Given the description of an element on the screen output the (x, y) to click on. 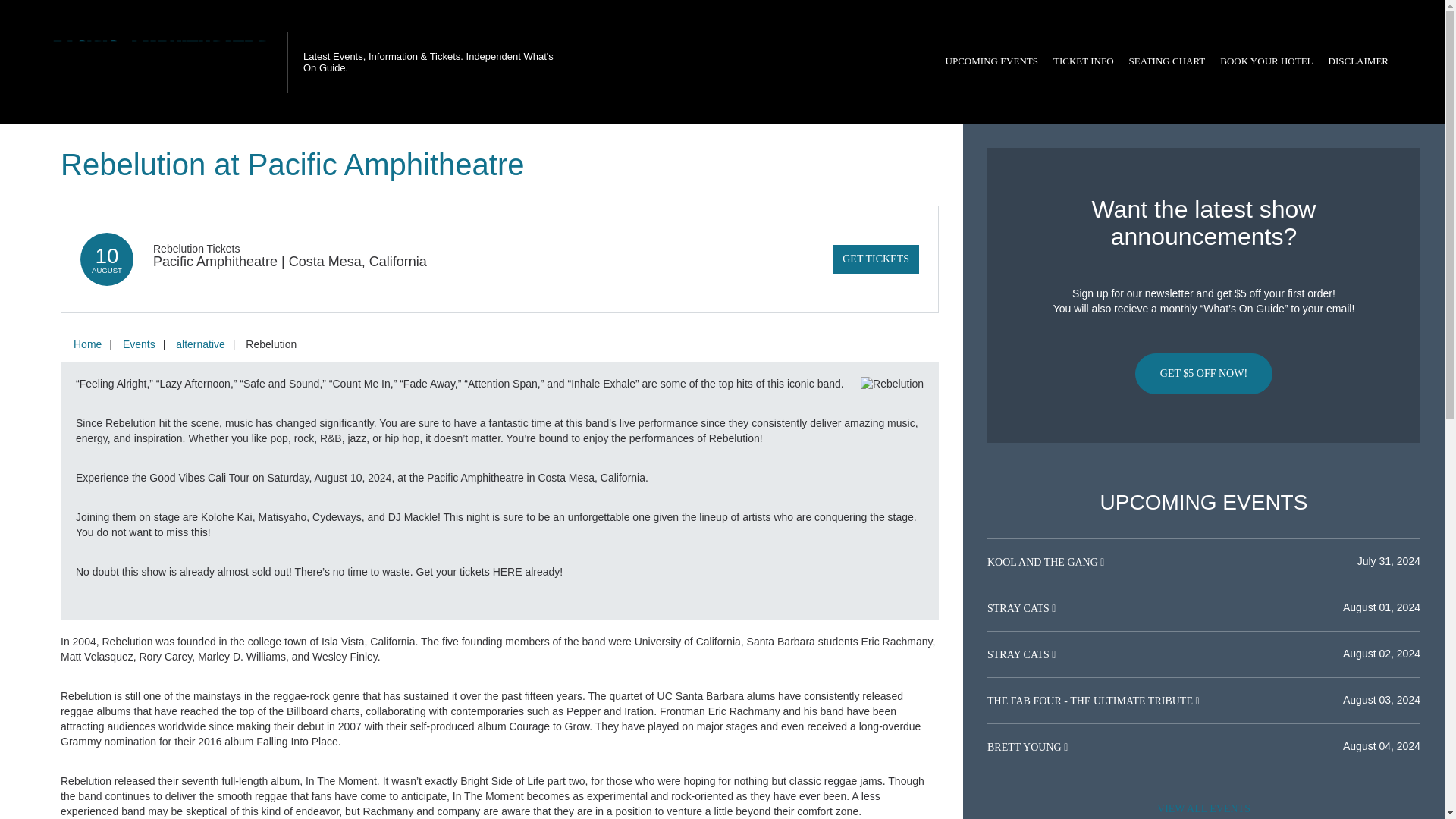
BOOK YOUR HOTEL (1266, 61)
STRAY CATS (1019, 608)
DISCLAIMER (1358, 61)
Home (87, 344)
THE FAB FOUR - THE ULTIMATE TRIBUTE (1091, 700)
Rebelution Tickets (196, 248)
Events (139, 344)
KOOL AND THE GANG (1043, 562)
VIEW ALL EVENTS (1203, 806)
alternative (200, 344)
GET TICKETS (875, 258)
UPCOMING EVENTS (991, 61)
BRETT YOUNG (1025, 747)
SEATING CHART (1166, 61)
STRAY CATS (1019, 654)
